Given the description of an element on the screen output the (x, y) to click on. 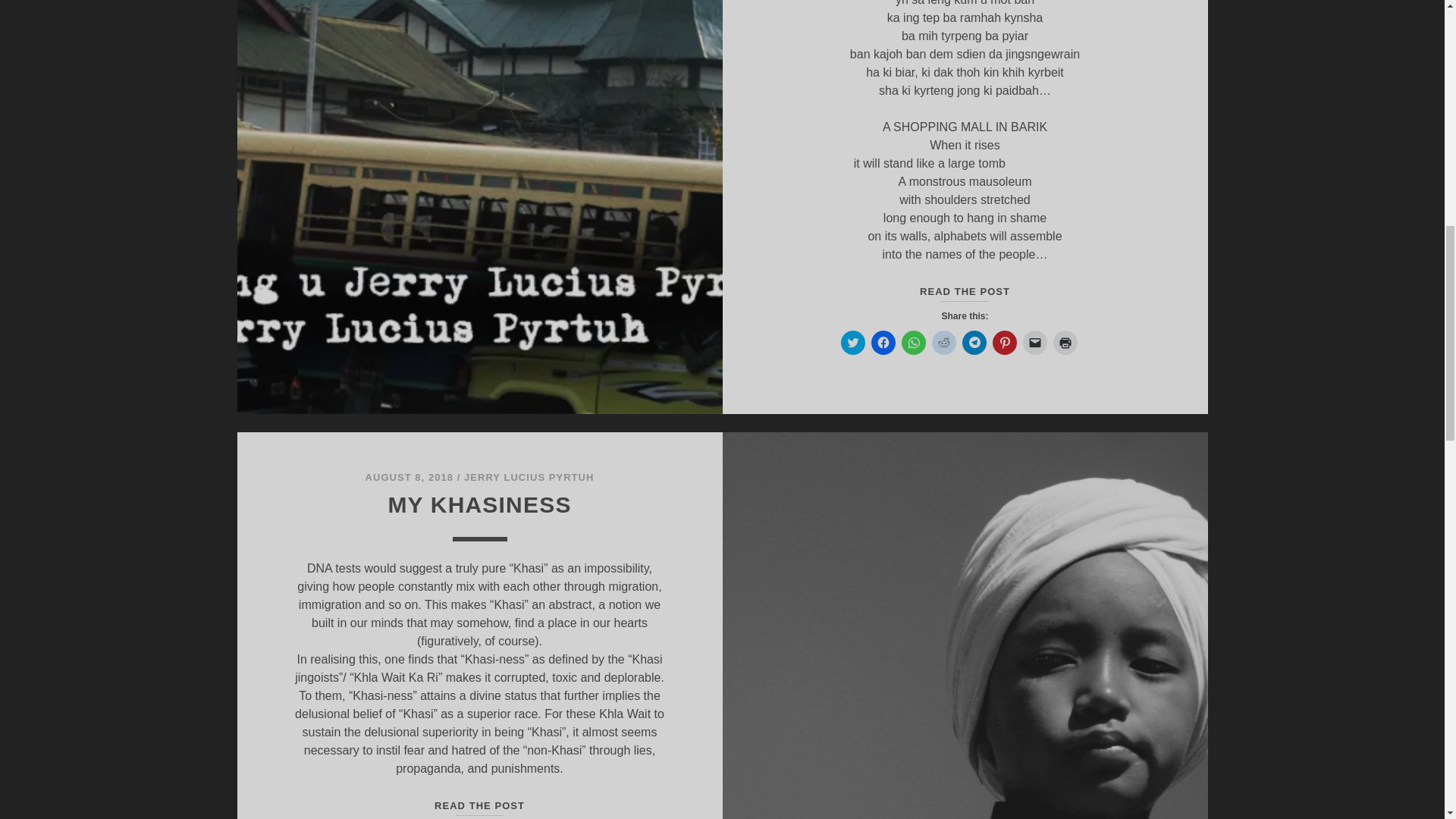
Click to share on Twitter (852, 342)
Click to share on Facebook (882, 342)
